Given the description of an element on the screen output the (x, y) to click on. 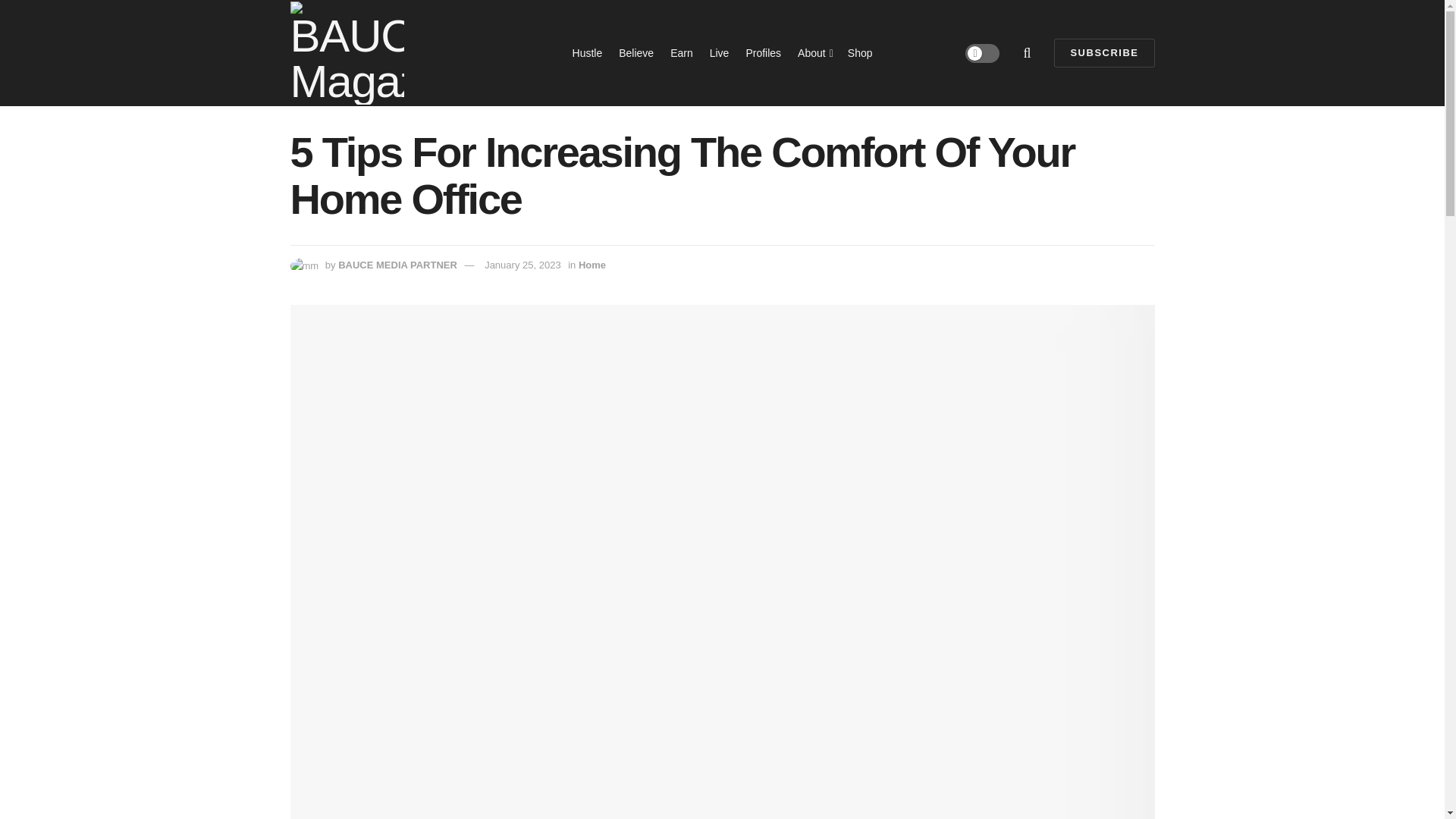
Hustle (587, 52)
SUBSCRIBE (1104, 52)
January 25, 2023 (522, 265)
BAUCE MEDIA PARTNER (397, 265)
Shop (859, 52)
Live (719, 52)
About (814, 52)
Believe (635, 52)
Earn (681, 52)
Home (591, 265)
Profiles (762, 52)
